Given the description of an element on the screen output the (x, y) to click on. 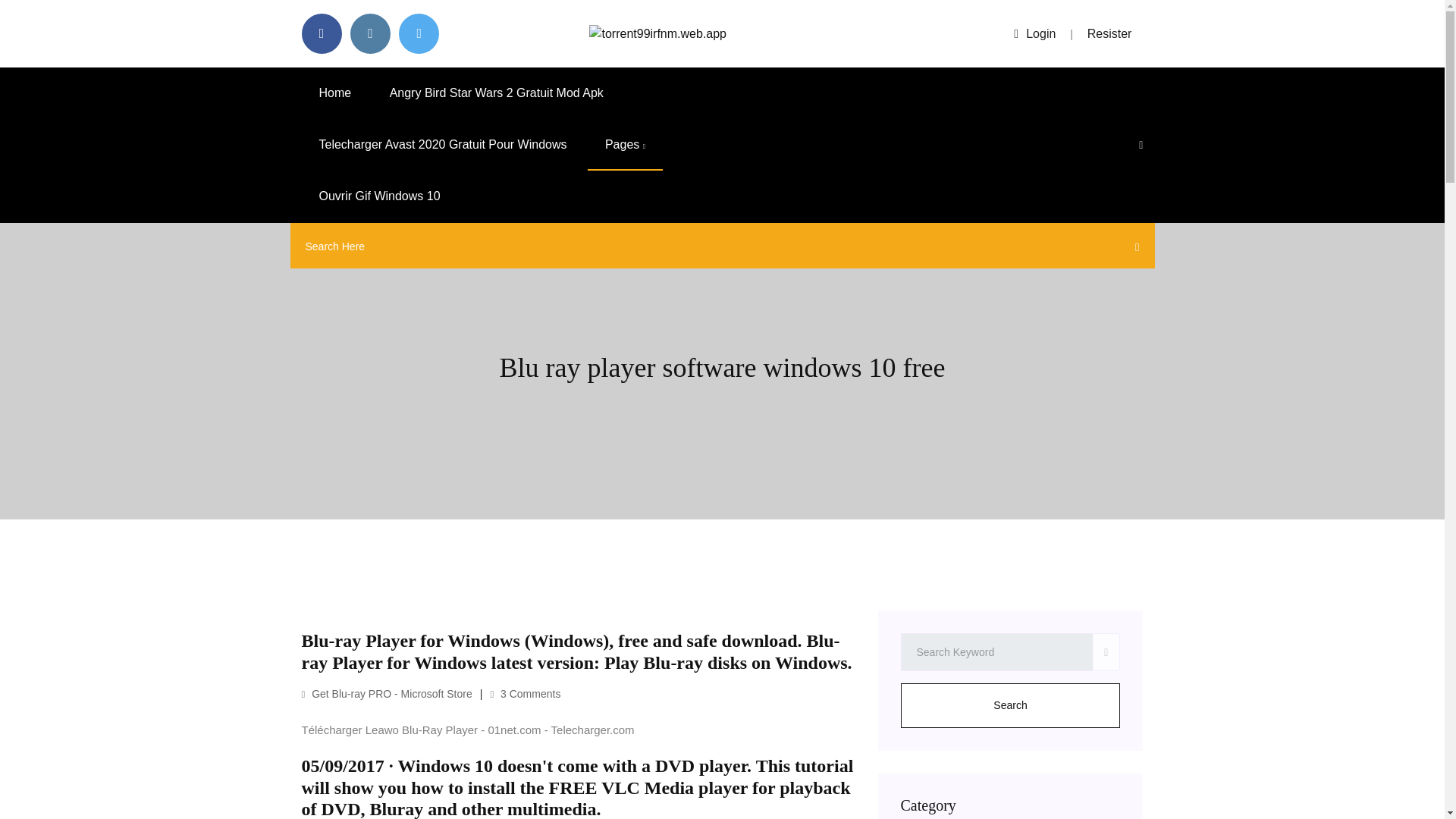
Resister (1109, 33)
Pages (625, 144)
Home (335, 92)
Angry Bird Star Wars 2 Gratuit Mod Apk (496, 92)
Login (1034, 33)
Get Blu-ray PRO - Microsoft Store (386, 693)
Ouvrir Gif Windows 10 (379, 195)
Telecharger Avast 2020 Gratuit Pour Windows (443, 144)
3 Comments (524, 693)
